Given the description of an element on the screen output the (x, y) to click on. 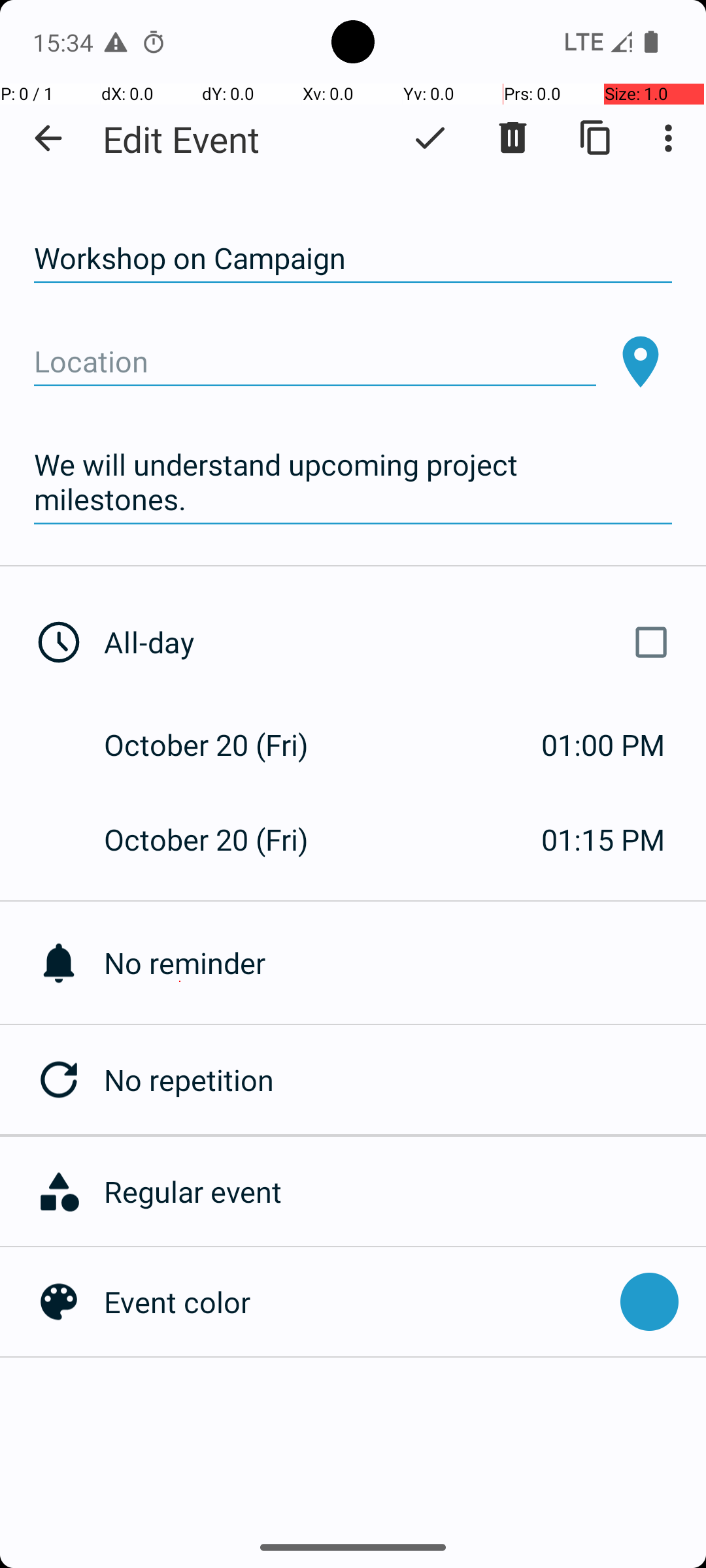
Workshop on Campaign Element type: android.widget.EditText (352, 258)
We will understand upcoming project milestones. Element type: android.widget.EditText (352, 482)
October 20 (Fri) Element type: android.widget.TextView (219, 744)
01:00 PM Element type: android.widget.TextView (602, 744)
01:15 PM Element type: android.widget.TextView (602, 838)
